Given the description of an element on the screen output the (x, y) to click on. 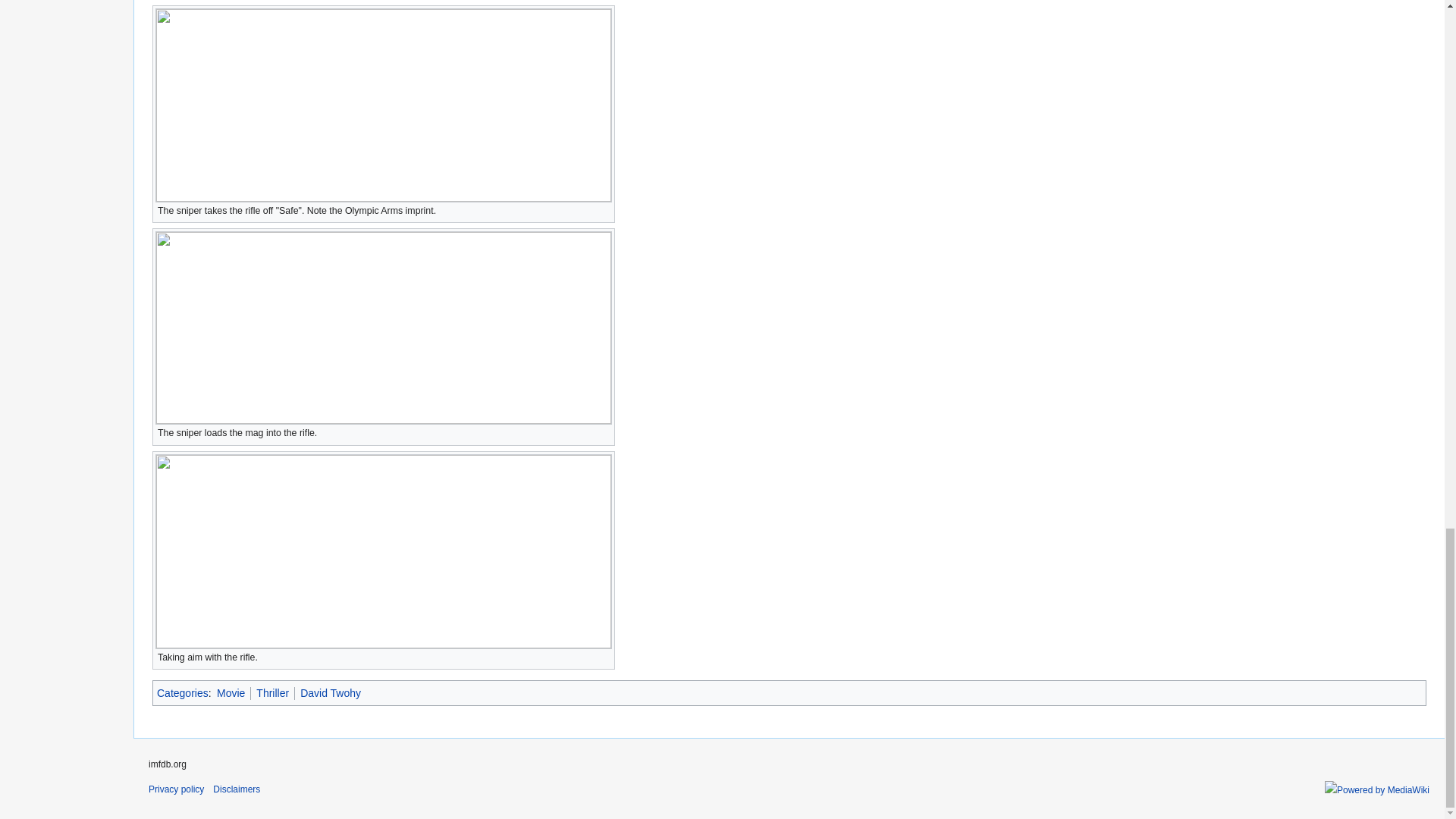
Category:Thriller (272, 693)
Special:Categories (182, 693)
Enlarge (604, 655)
Enlarge (604, 430)
Enlarge (604, 208)
Category:David Twohy (330, 693)
Category:Movie (230, 693)
David Twohy (330, 693)
Categories (182, 693)
Movie (230, 693)
